Given the description of an element on the screen output the (x, y) to click on. 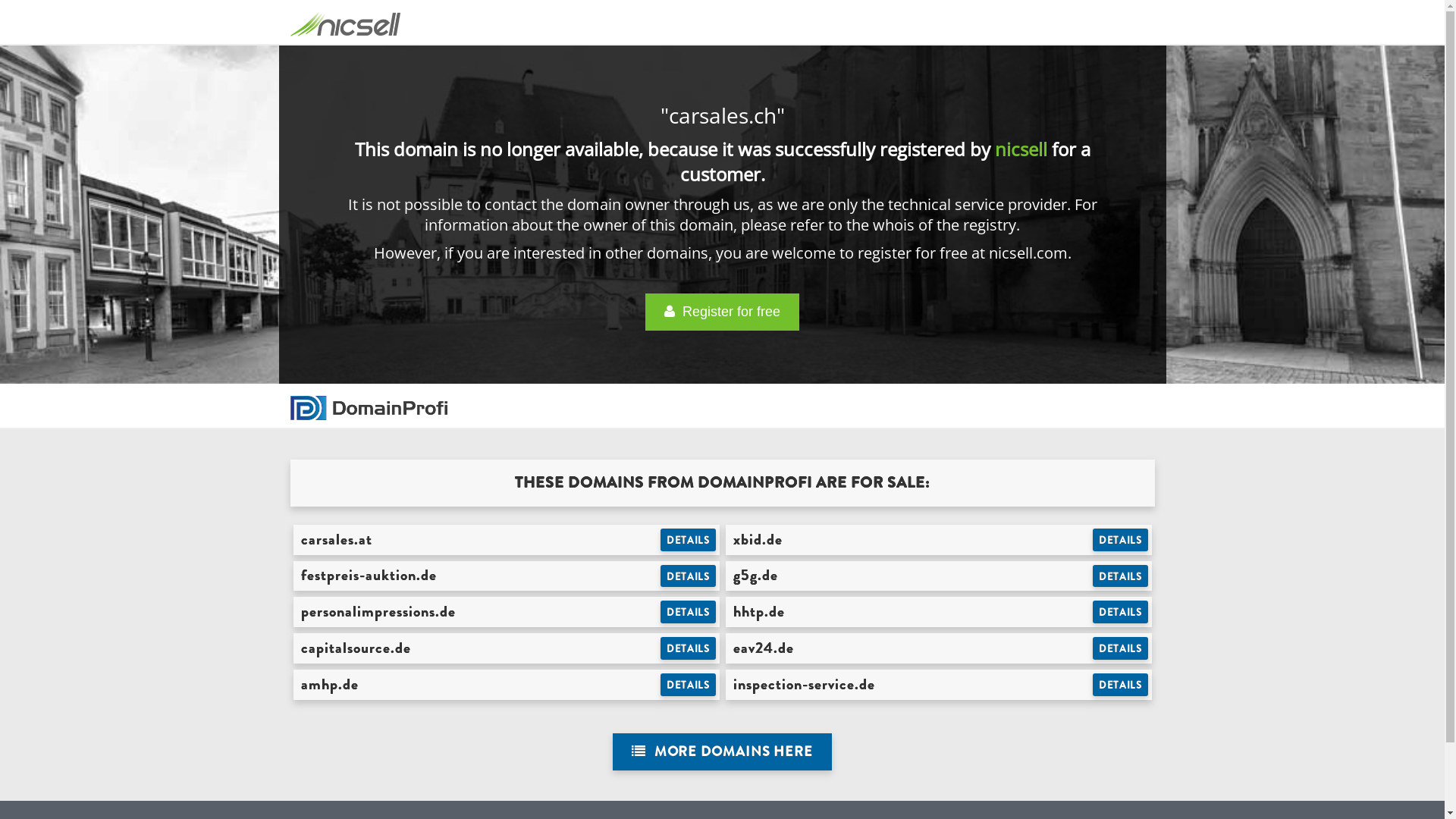
DETAILS Element type: text (687, 648)
DETAILS Element type: text (687, 684)
  Register for free Element type: text (722, 311)
DETAILS Element type: text (1120, 648)
DETAILS Element type: text (1120, 611)
DETAILS Element type: text (687, 611)
DETAILS Element type: text (1120, 539)
DETAILS Element type: text (1120, 575)
nicsell Element type: text (1020, 148)
DETAILS Element type: text (687, 575)
DETAILS Element type: text (687, 539)
  MORE DOMAINS HERE Element type: text (721, 751)
DETAILS Element type: text (1120, 684)
